Given the description of an element on the screen output the (x, y) to click on. 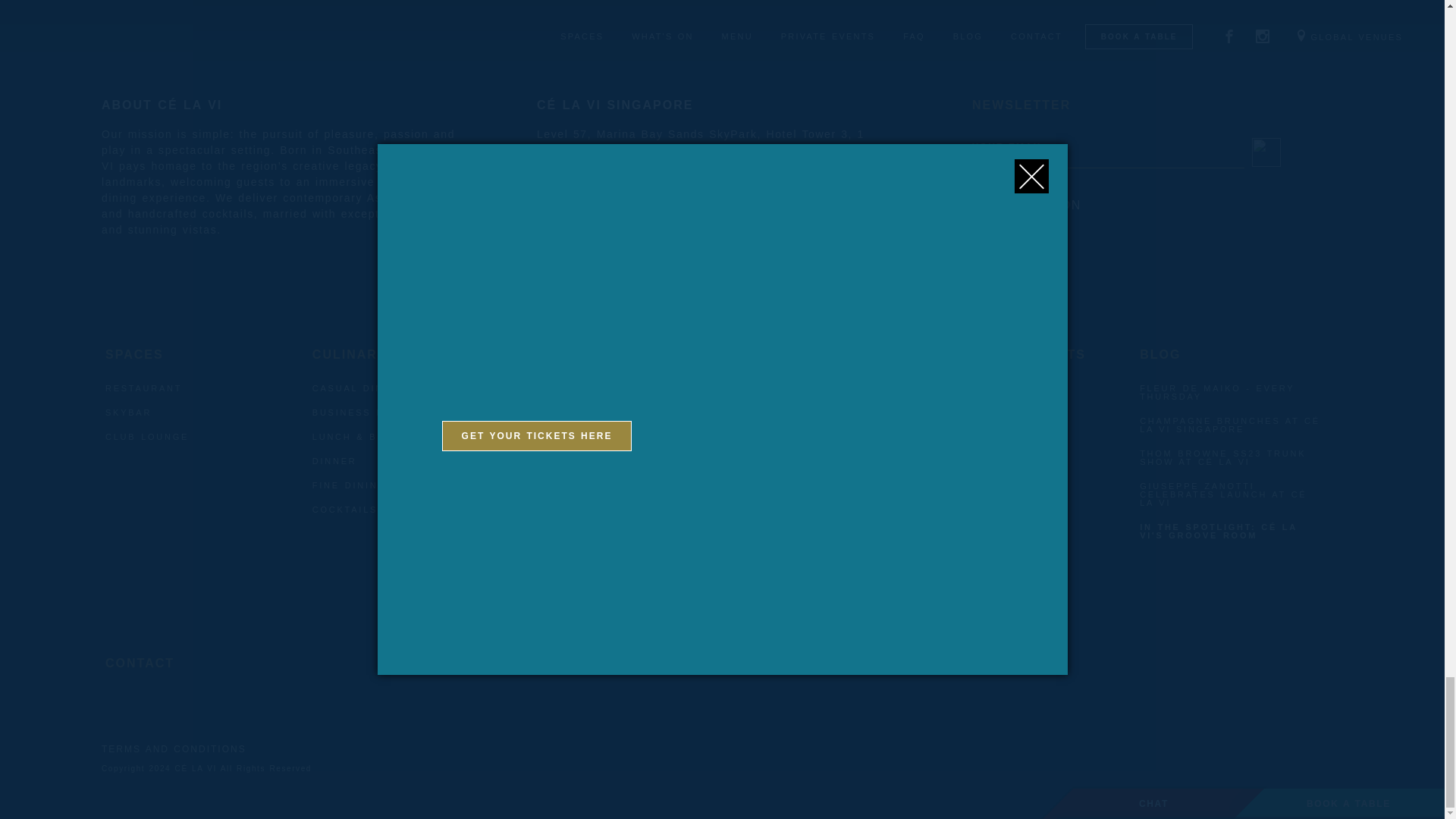
BIRTHDAY CELEBRATIONS (801, 437)
Connect via WhatsApp (603, 220)
ANNIVERSARY (766, 509)
SPACES (146, 354)
Get Directions (579, 173)
18TH BIRTHDAY (770, 461)
SKYBAR (127, 413)
WEEKEND HAPPENINGS (587, 388)
FINE DINING (350, 485)
WHAT'S ON (587, 354)
CLUB LOUNGE (146, 437)
21ST BIRTHDAY PARTY (792, 485)
THE BRUNCH CLUB (575, 413)
DINNER (334, 461)
FAMILY GATHERINGS (786, 413)
